Given the description of an element on the screen output the (x, y) to click on. 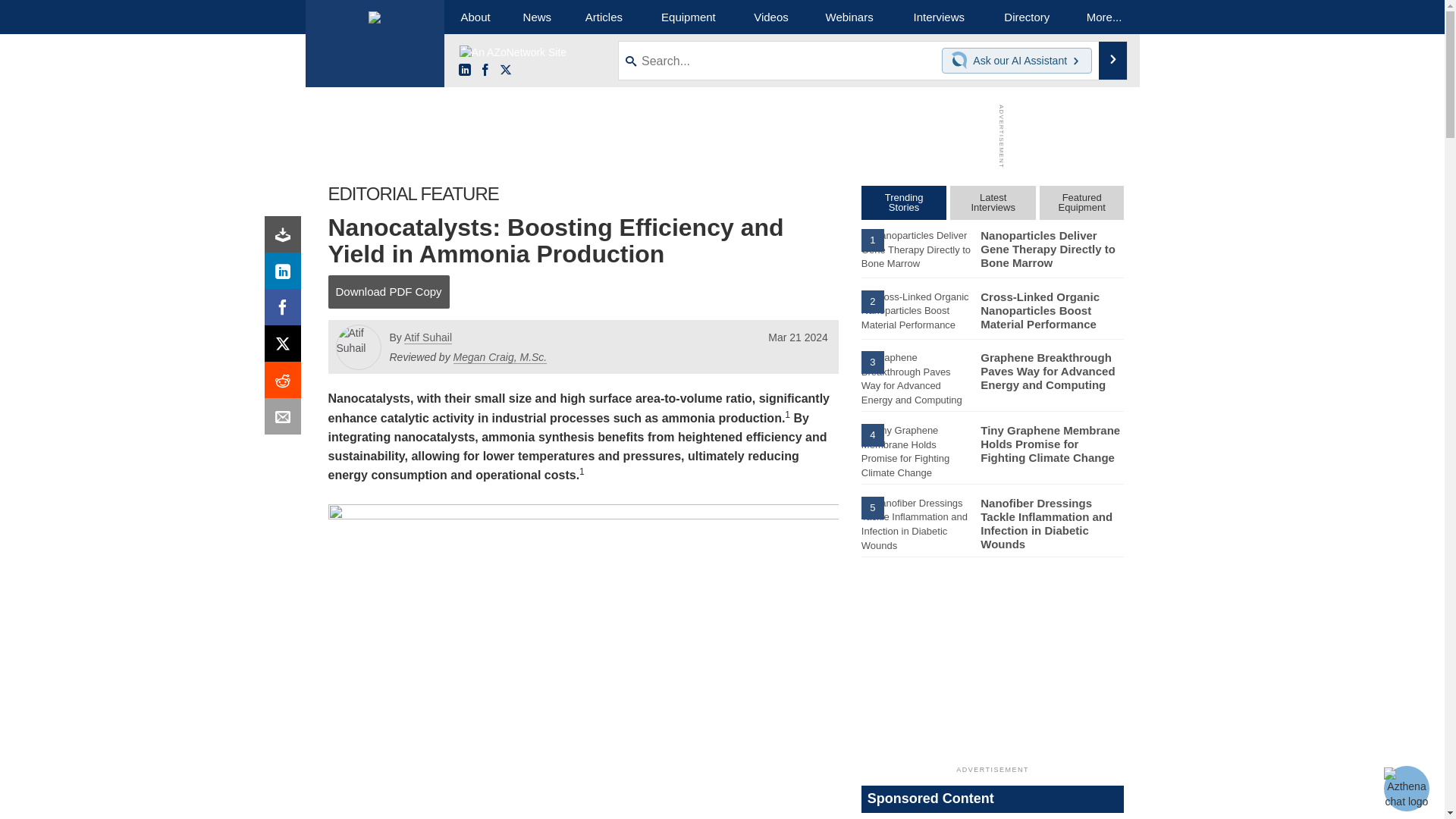
X (505, 70)
Articles (603, 17)
Webinars (849, 17)
X (285, 348)
Equipment (688, 17)
About (475, 17)
LinkedIn (285, 275)
Chat with our AI Assistant (962, 60)
More... (1104, 17)
News (536, 17)
Videos (770, 17)
Download PDF copy (285, 238)
Facebook (285, 311)
Email (285, 420)
